Given the description of an element on the screen output the (x, y) to click on. 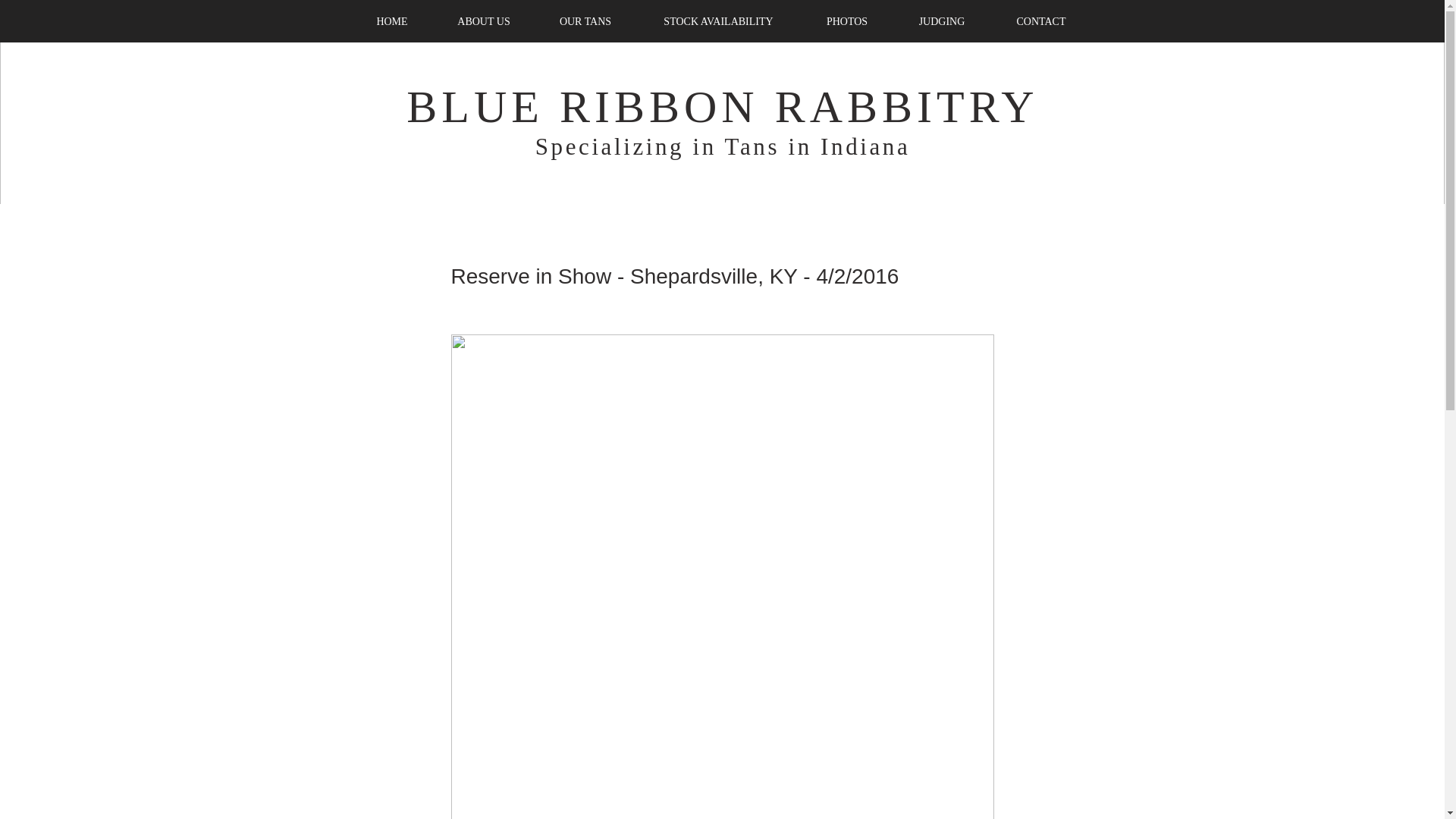
CONTACT (1041, 21)
PHOTOS (846, 21)
HOME (391, 21)
BLUE RIBBON RABBITRY (722, 106)
STOCK AVAILABILITY (718, 21)
JUDGING (941, 21)
OUR TANS (585, 21)
ABOUT US (483, 21)
